Given the description of an element on the screen output the (x, y) to click on. 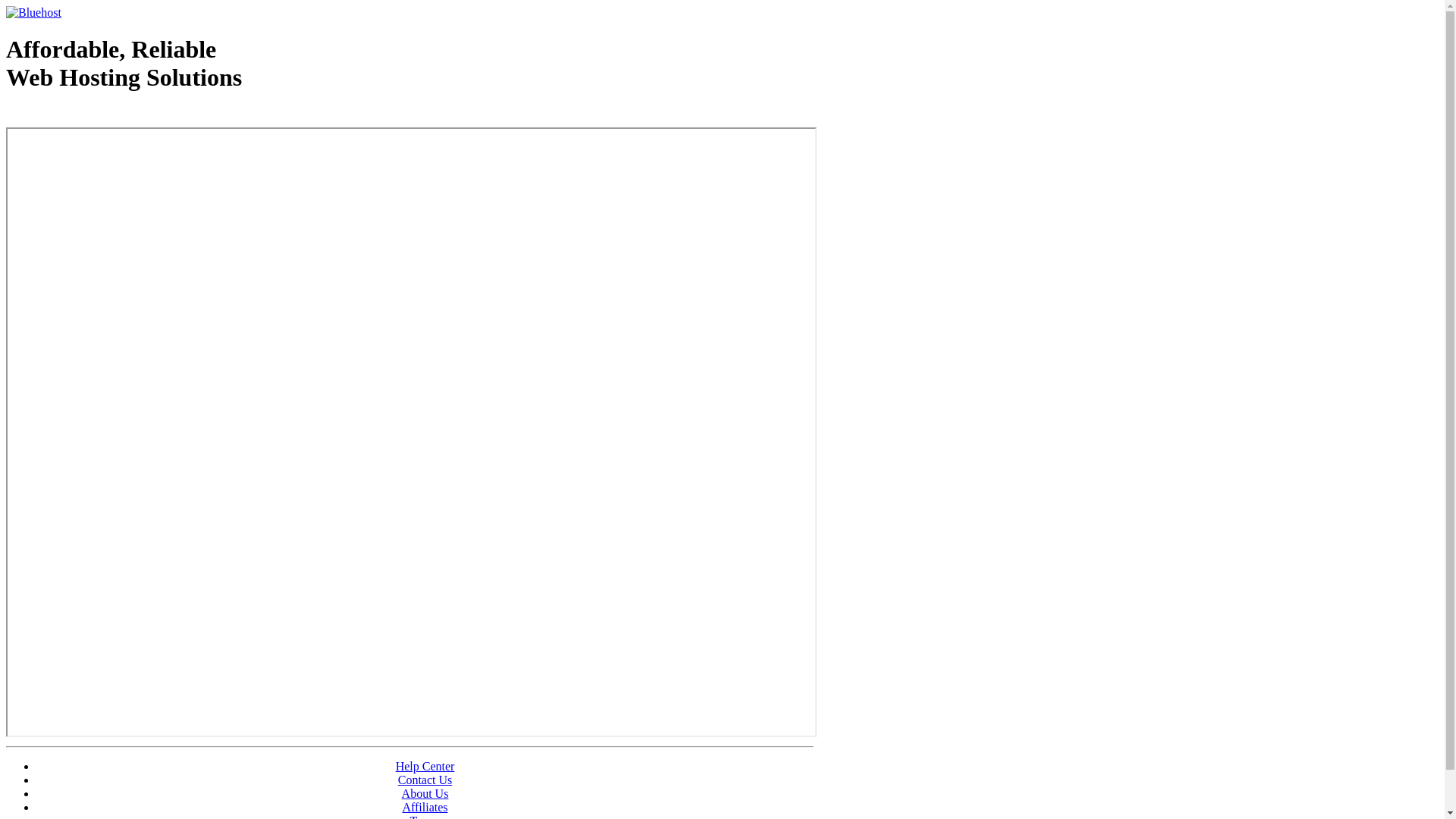
Affiliates Element type: text (424, 806)
Help Center Element type: text (425, 765)
Contact Us Element type: text (425, 779)
About Us Element type: text (424, 793)
Web Hosting - courtesy of www.bluehost.com Element type: text (94, 115)
